Given the description of an element on the screen output the (x, y) to click on. 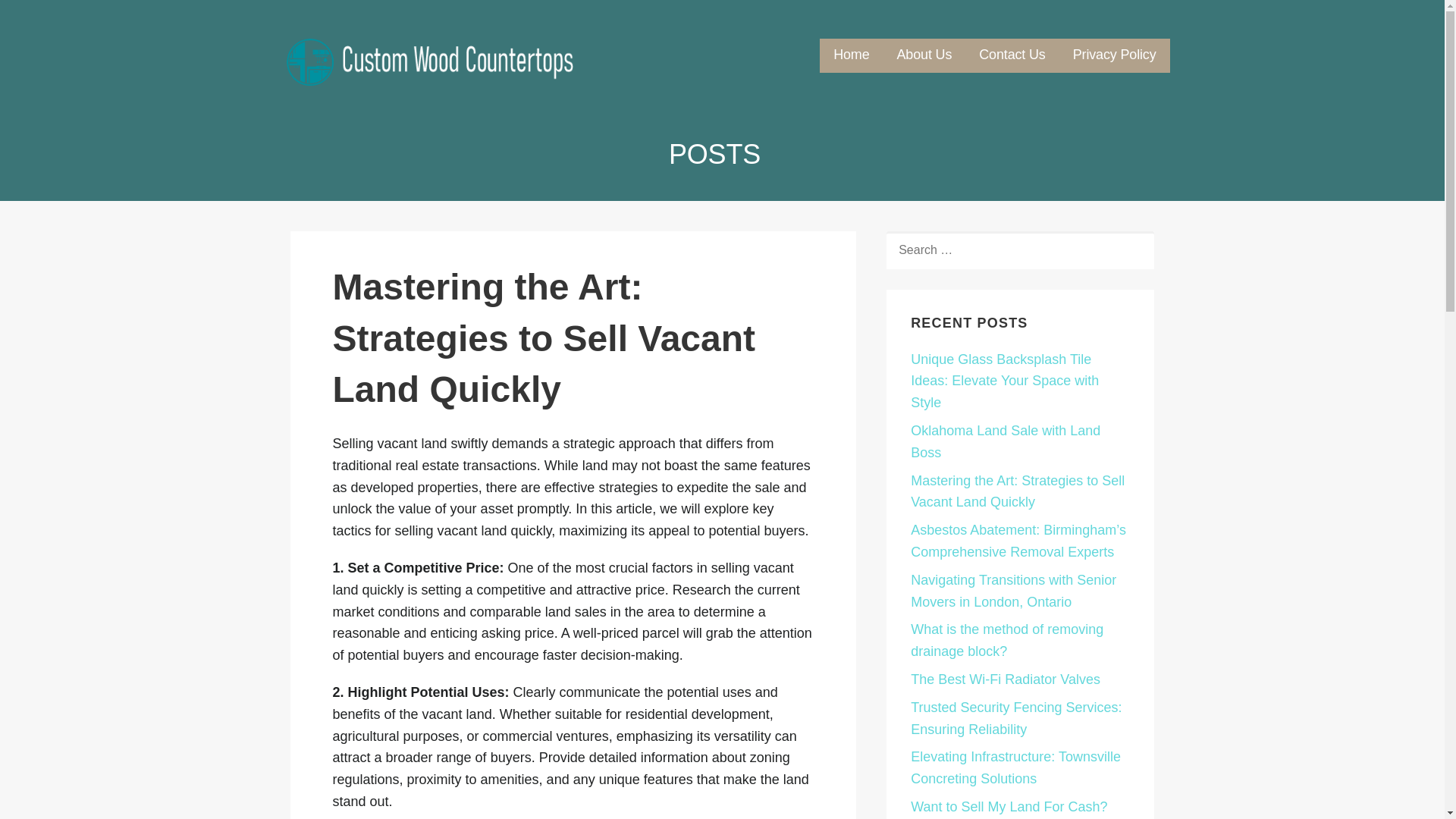
About Us (924, 55)
Search (47, 17)
Navigating Transitions with Senior Movers in London, Ontario (1013, 590)
Want to Sell My Land For Cash? (1008, 806)
Privacy Policy (1114, 55)
The Best Wi-Fi Radiator Valves (1005, 679)
Delaware Custom Wood Countertops (472, 95)
Mastering the Art: Strategies to Sell Vacant Land Quickly (1017, 491)
Oklahoma Land Sale with Land Boss (1005, 441)
